Given the description of an element on the screen output the (x, y) to click on. 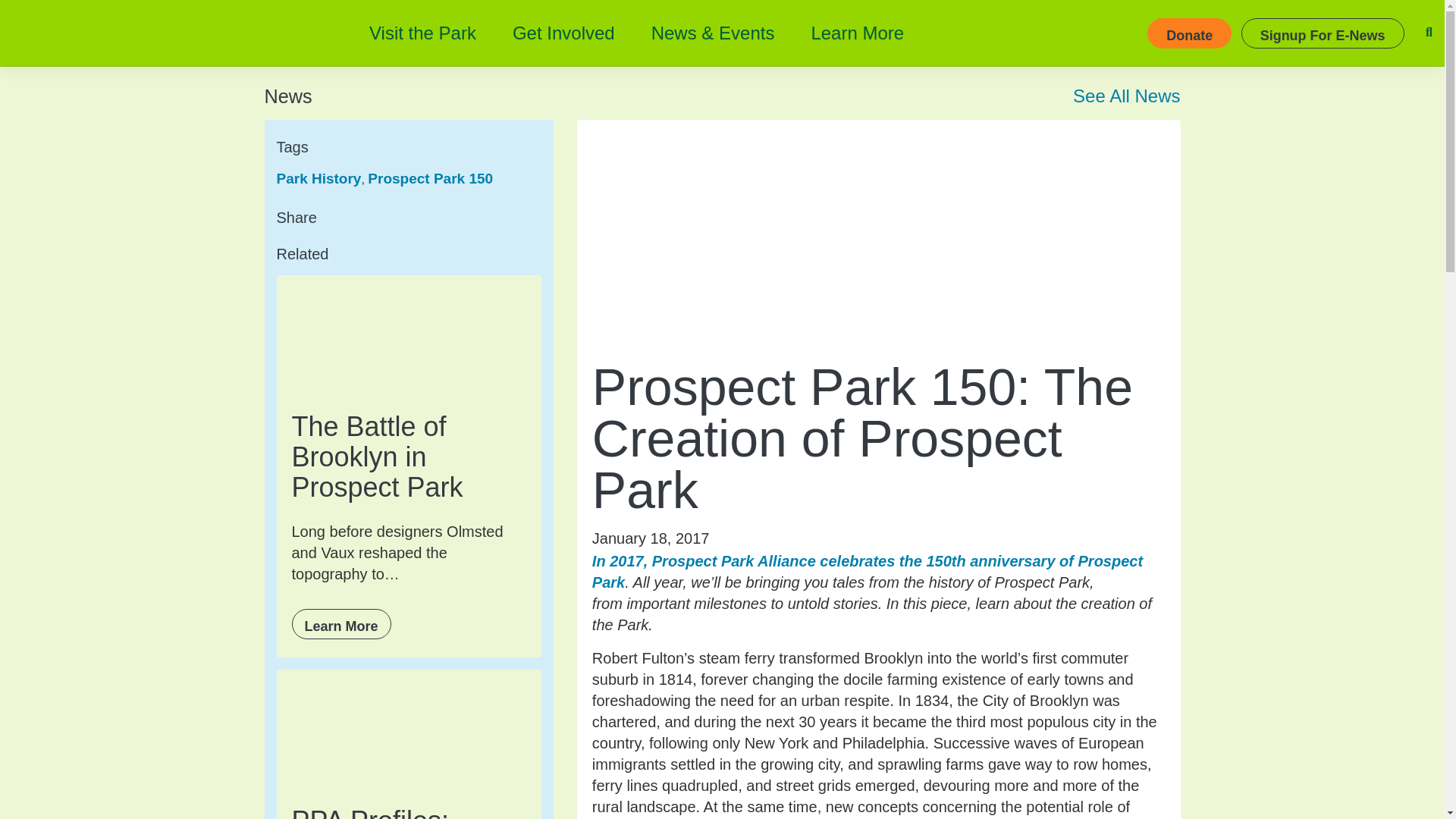
Donate (1189, 33)
Get Involved (564, 32)
Get Involved (564, 32)
Learn More (856, 32)
Visit the Park (422, 32)
Signup For E-News (1323, 33)
Visit the Park (422, 32)
